Given the description of an element on the screen output the (x, y) to click on. 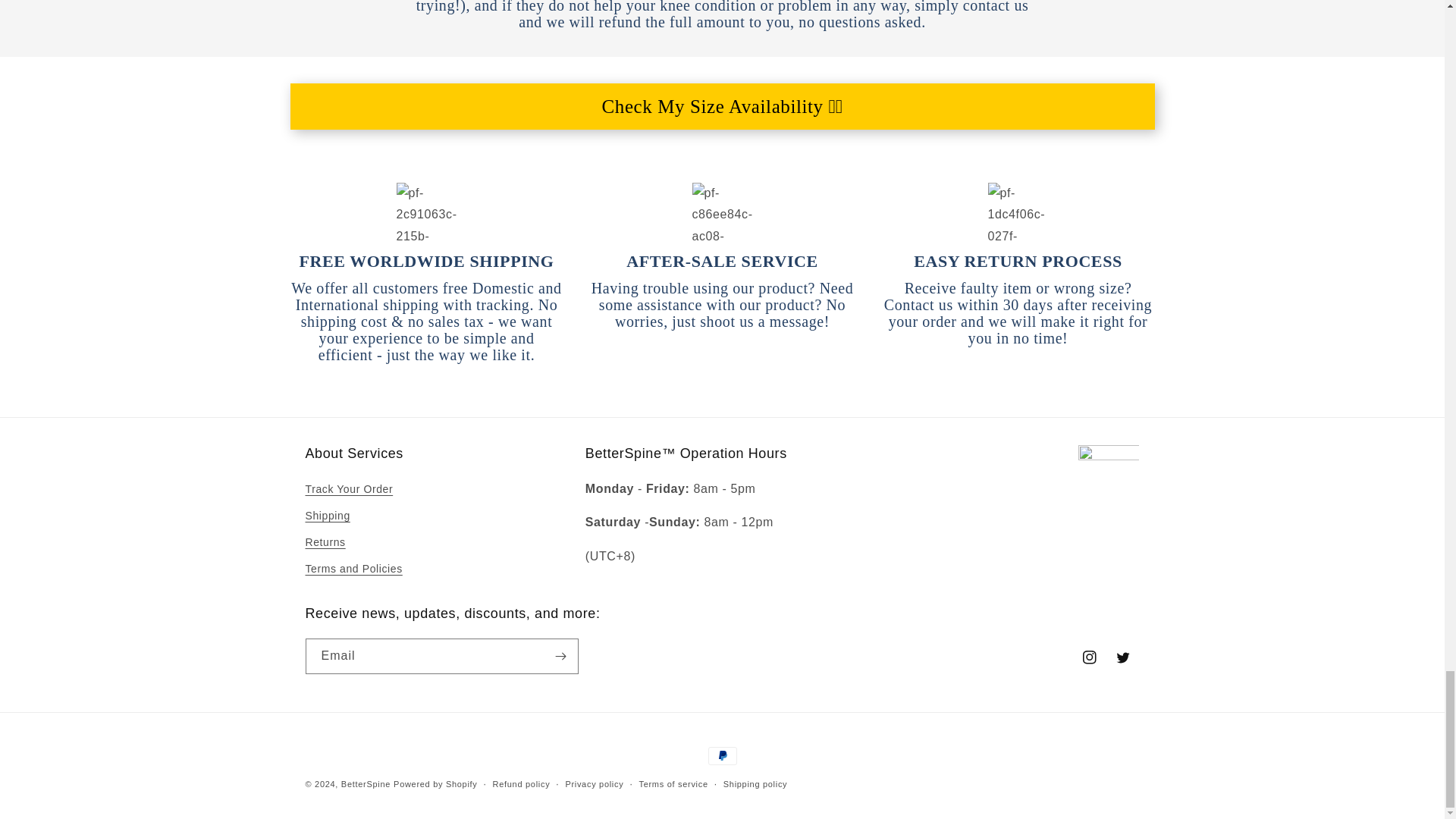
Powered by Shopify (435, 783)
Track Your Order (348, 490)
Terms and Policies (352, 569)
Refund policy (521, 784)
Shipping policy (755, 784)
Shipping (326, 515)
Twitter (1121, 657)
Privacy policy (593, 784)
BetterSpine (365, 783)
Instagram (1088, 657)
Returns (324, 542)
Terms of service (673, 784)
